Given the description of an element on the screen output the (x, y) to click on. 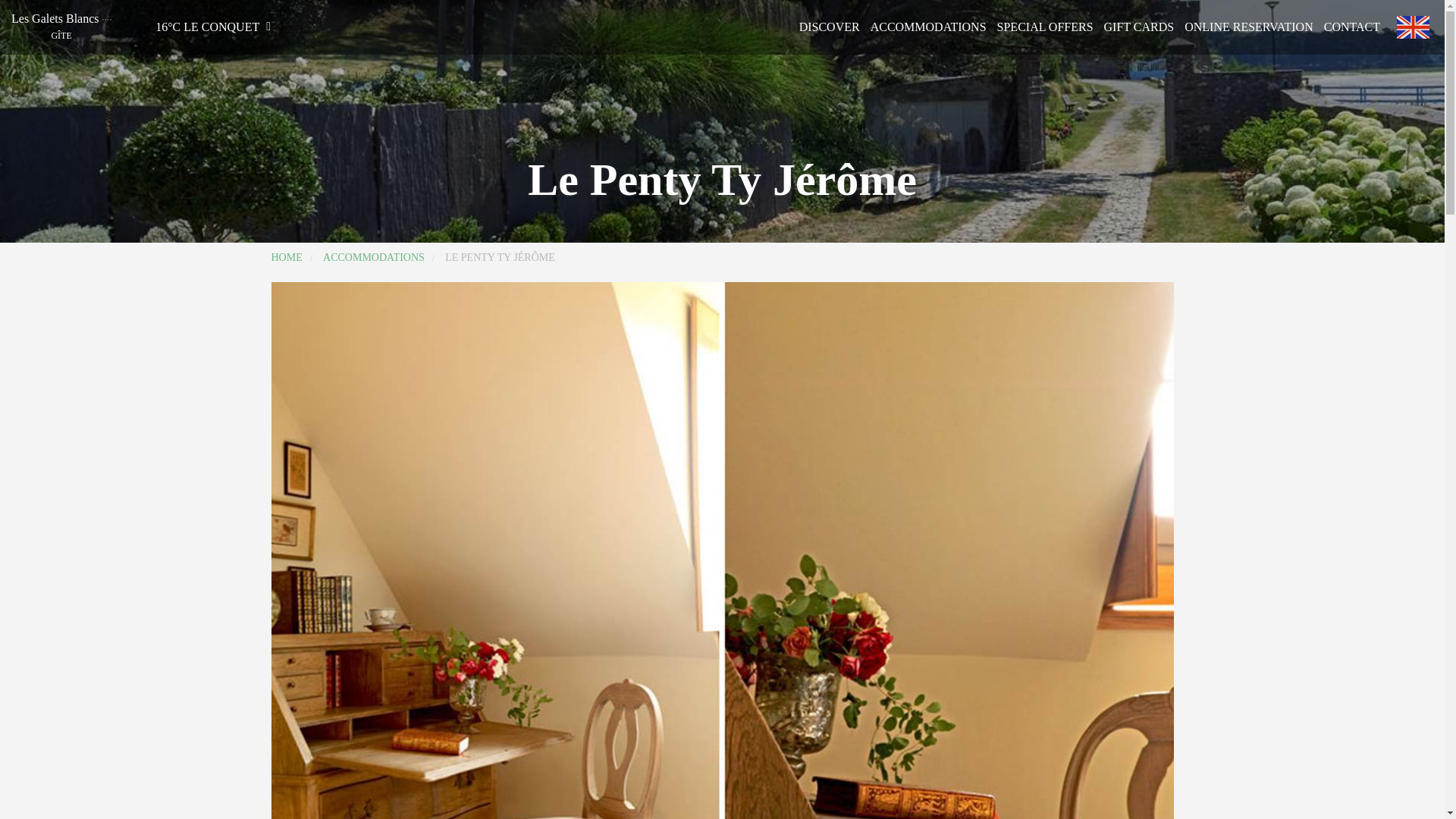
HOME (286, 256)
ACCOMMODATIONS (374, 256)
SPECIAL OFFERS (1045, 26)
DISCOVER (829, 26)
GIFT CARDS (1138, 26)
ONLINE RESERVATION (1249, 26)
ACCOMMODATIONS (928, 26)
CONTACT (1351, 26)
